Given the description of an element on the screen output the (x, y) to click on. 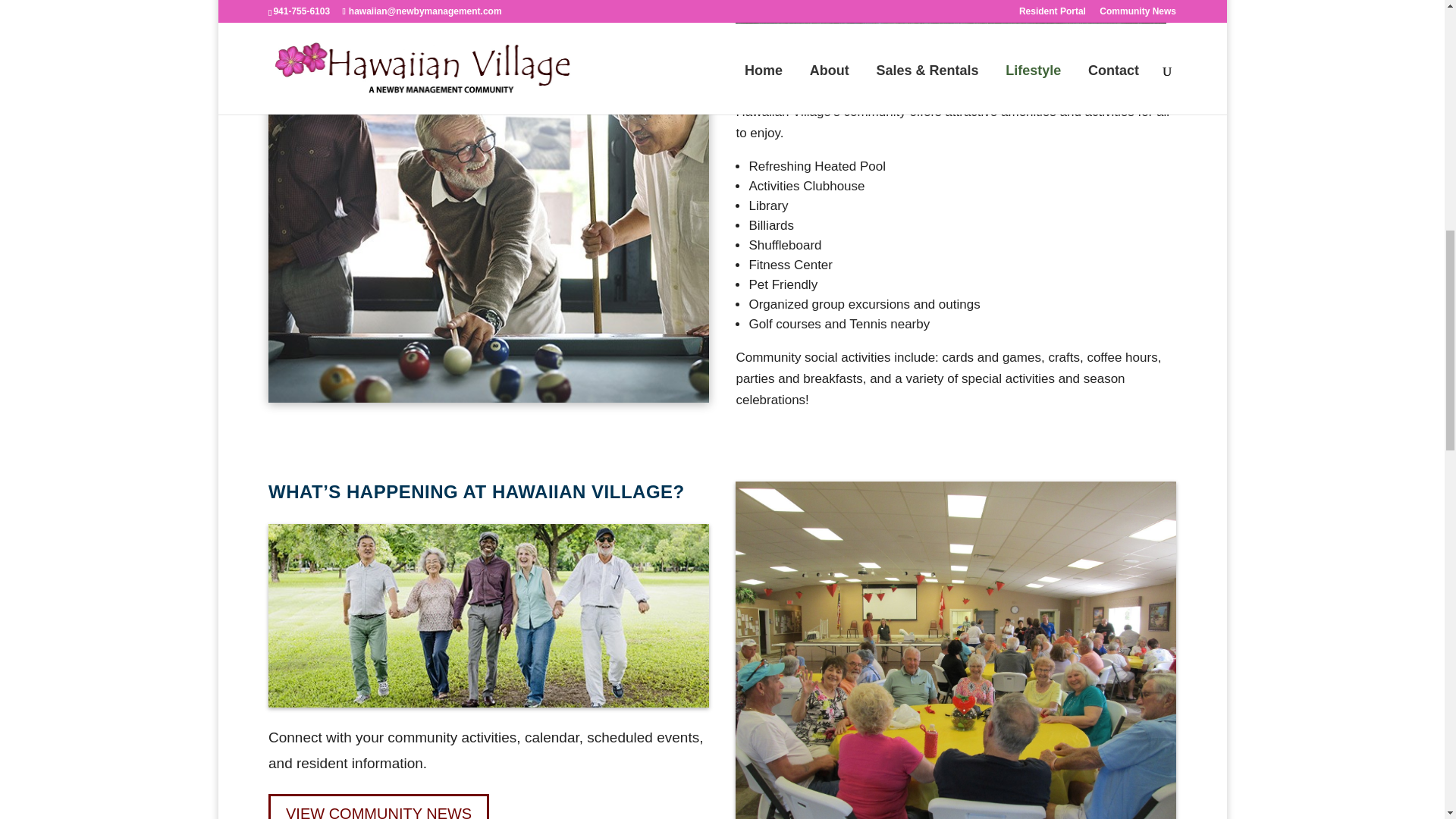
VIEW COMMUNITY NEWS (378, 806)
